Given the description of an element on the screen output the (x, y) to click on. 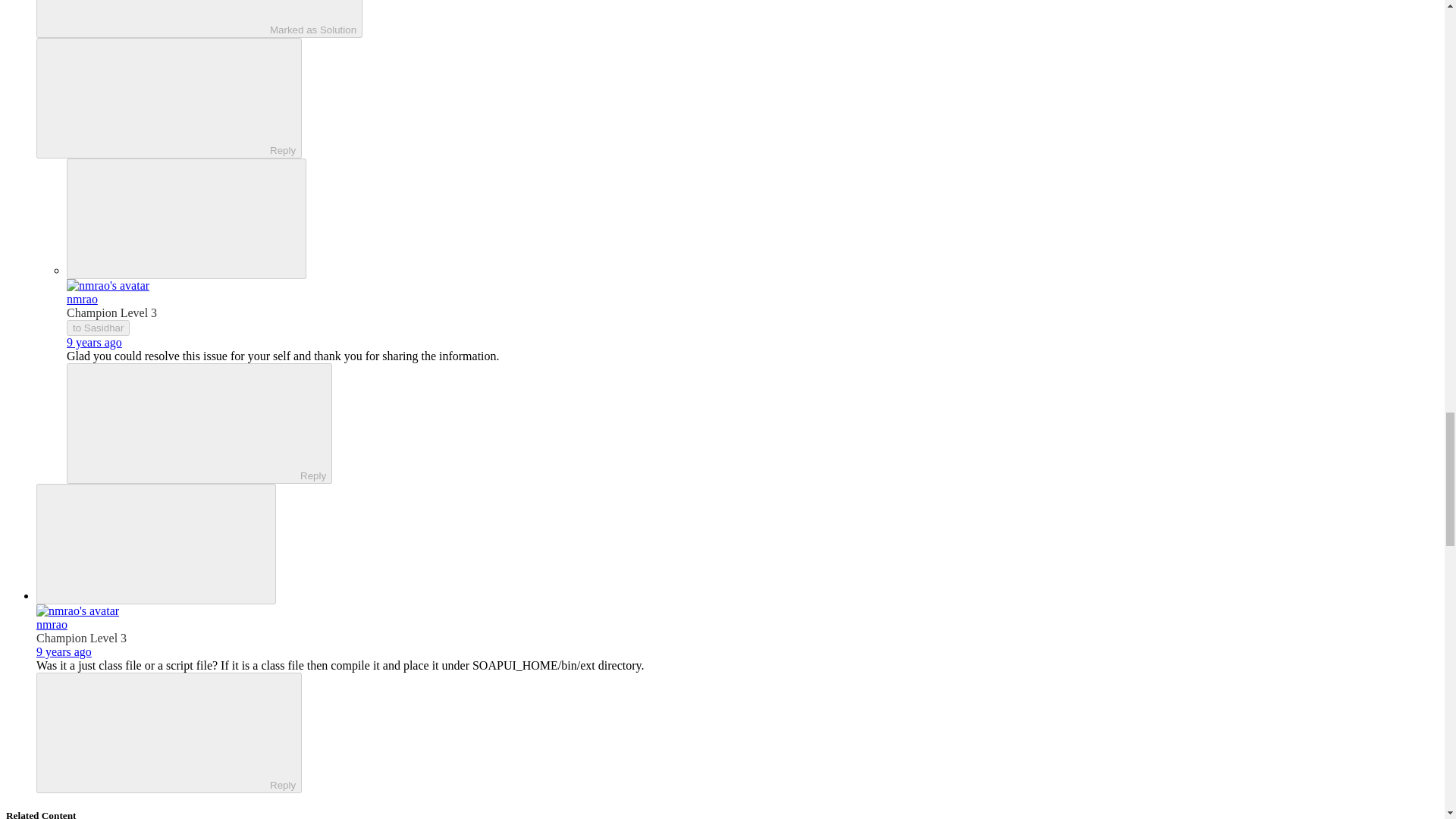
Reply (155, 731)
July 29, 2015 at 6:08 PM (63, 651)
Marked as Solution (199, 18)
Reply (155, 96)
to Sasidhar (97, 327)
August 10, 2015 at 7:58 PM (94, 341)
Reply (185, 422)
9 years ago (63, 651)
nmrao (81, 298)
nmrao (51, 624)
ReplyReply (168, 732)
ReplyReply (198, 423)
9 years ago (94, 341)
ReplyReply (168, 97)
